Given the description of an element on the screen output the (x, y) to click on. 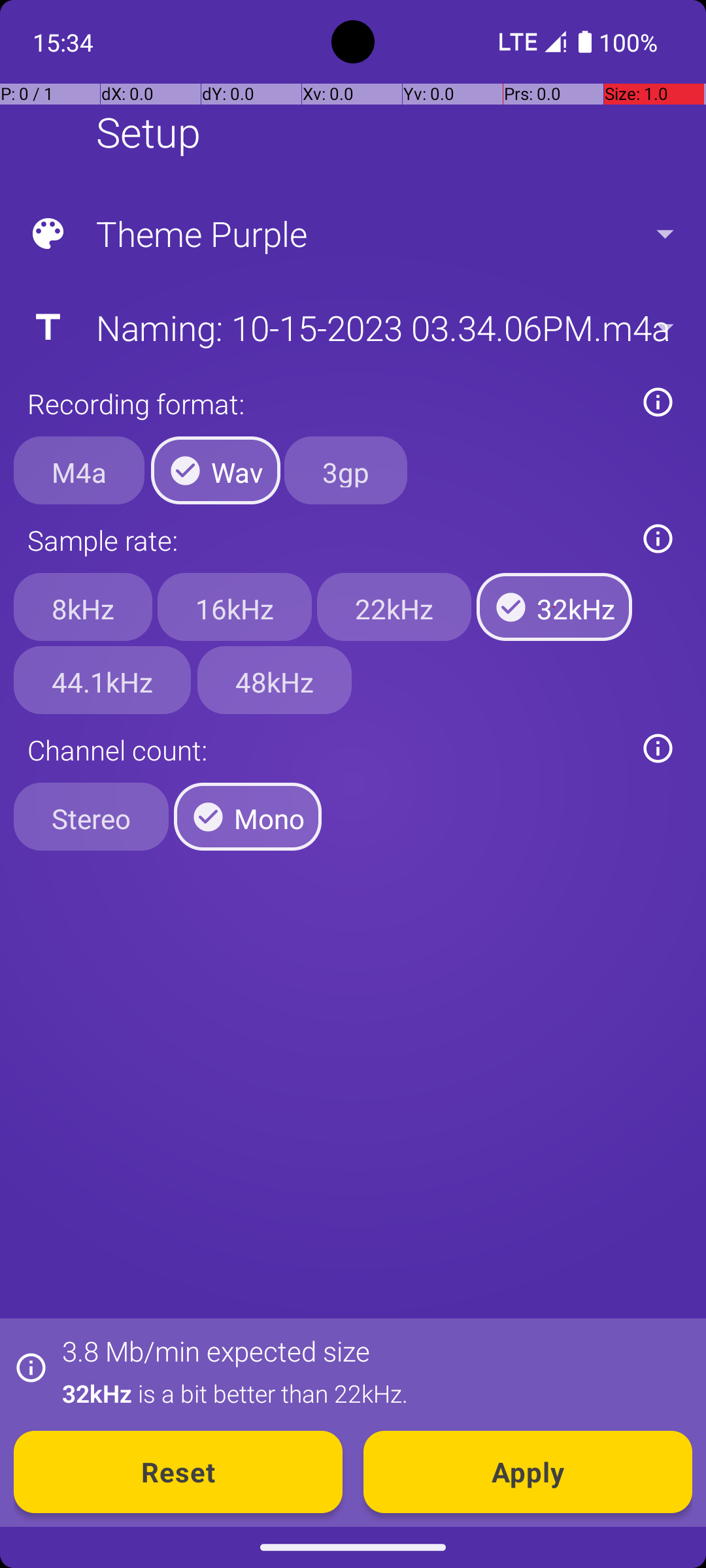
3.8 Mb/min expected size Element type: android.widget.TextView (215, 1350)
32kHz is a bit better than 22kHz. Element type: android.widget.TextView (370, 1392)
Naming: 10-15-2023 03.34.06PM.m4a Element type: android.widget.TextView (352, 327)
